Given the description of an element on the screen output the (x, y) to click on. 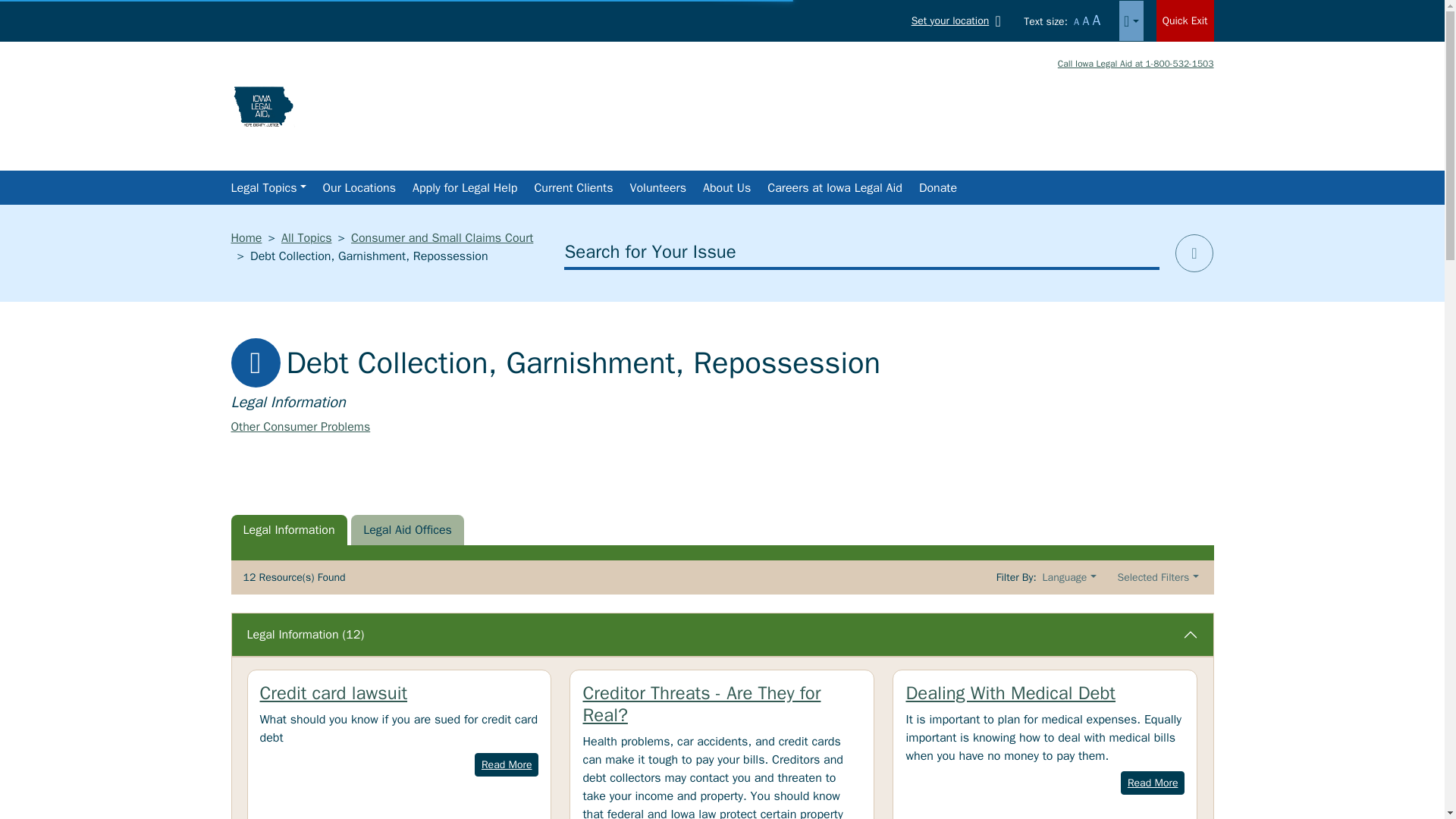
Set your location (959, 20)
Quick Exit (1184, 20)
Legal Information (288, 530)
Legal Topics (267, 187)
Legal Aid Offices (407, 530)
IowaLegalAid.org (262, 105)
Set your location (959, 20)
Call Iowa Legal Aid at 1-800-532-1503 (1136, 63)
Iowa Legal Aid (1066, 114)
